Given the description of an element on the screen output the (x, y) to click on. 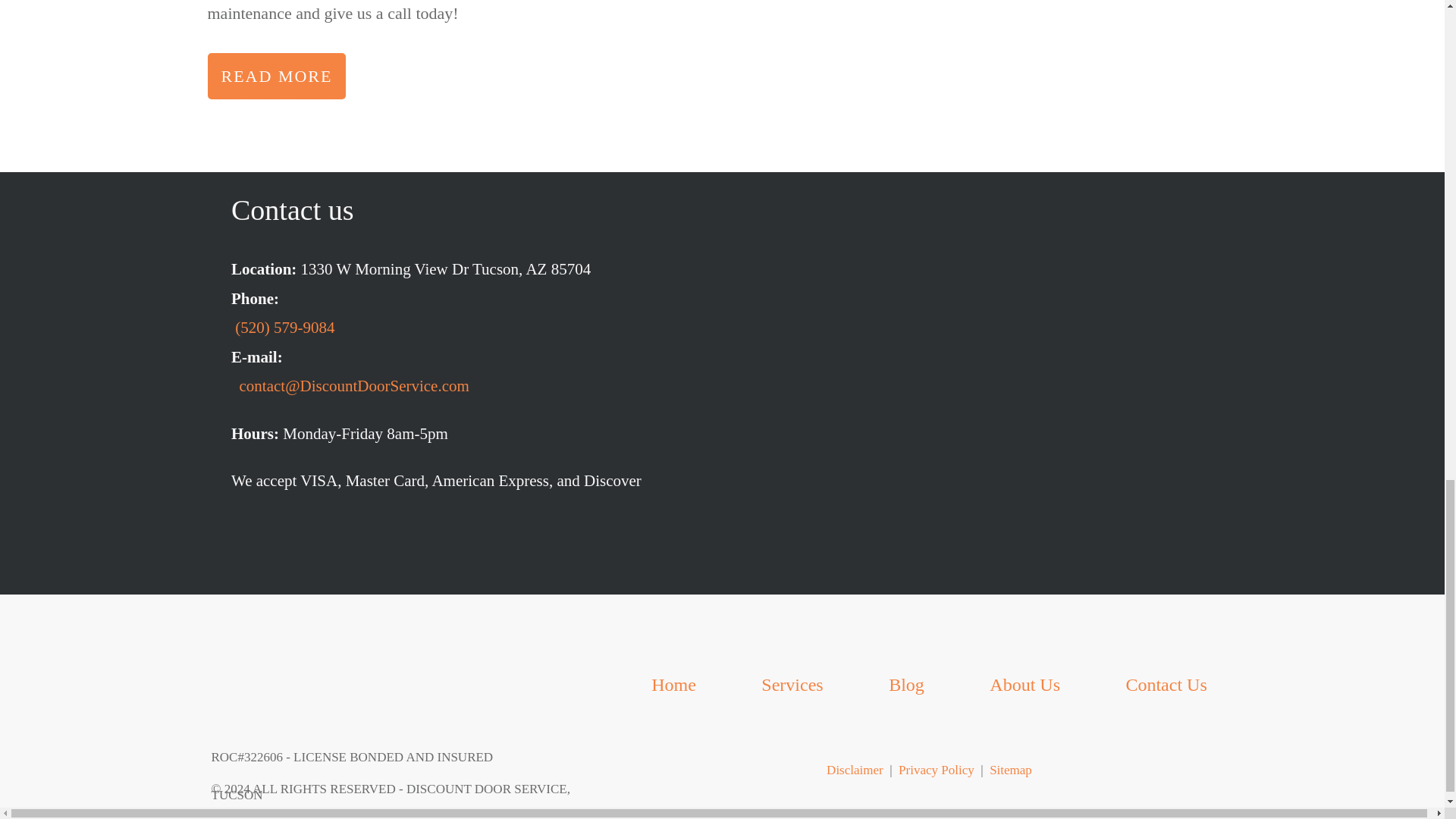
embedded content 1 (981, 358)
Contact Us (1166, 684)
Home (672, 684)
we-accept-credit-cards-discount-door-service (462, 550)
About Us (1024, 684)
Sitemap (1011, 769)
READ MORE (277, 76)
discount-garage-door-service-about (983, 63)
Disclaimer (855, 769)
Blog (906, 684)
